Given the description of an element on the screen output the (x, y) to click on. 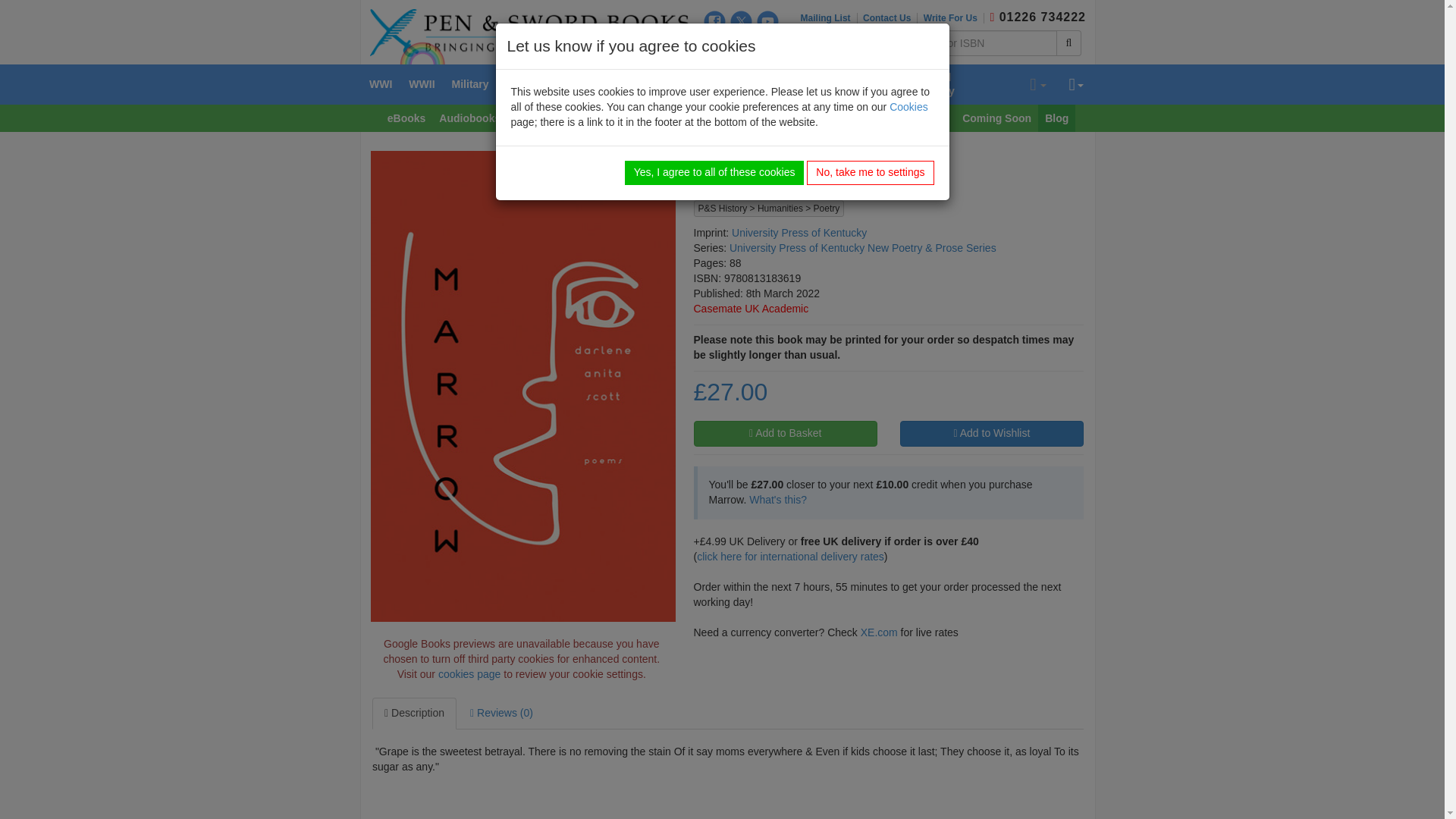
YouTube (767, 21)
Instagram (714, 45)
Write For Us (953, 18)
Contact Us (890, 18)
Your basket is empty (1037, 84)
Mailing List (828, 18)
NetGalley (767, 45)
Facebook (714, 21)
X (741, 21)
Pinterest (741, 45)
